Given the description of an element on the screen output the (x, y) to click on. 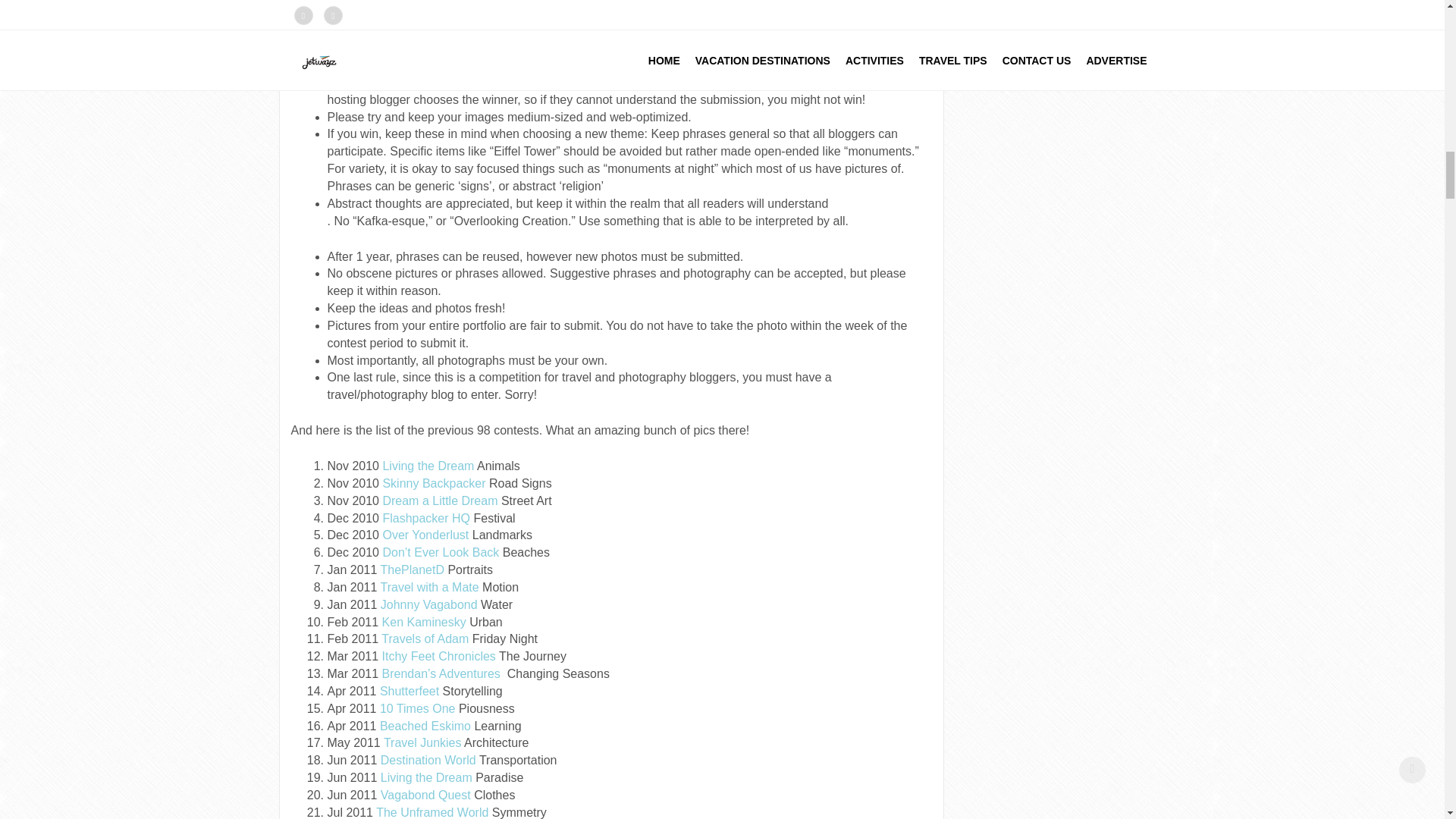
Living the Dream (427, 465)
Skinny Backpacker (432, 482)
ThePlanetD (412, 569)
Itchy Feet Chronicles (438, 656)
Dream a Little Dream (439, 500)
Over Yonderlust (424, 534)
Shutterfeet (409, 690)
Travels of Adam (424, 638)
Ken Kaminesky (423, 621)
Travel with a Mate (429, 586)
Flashpacker HQ (425, 517)
Johnny Vagabond (428, 604)
